Given the description of an element on the screen output the (x, y) to click on. 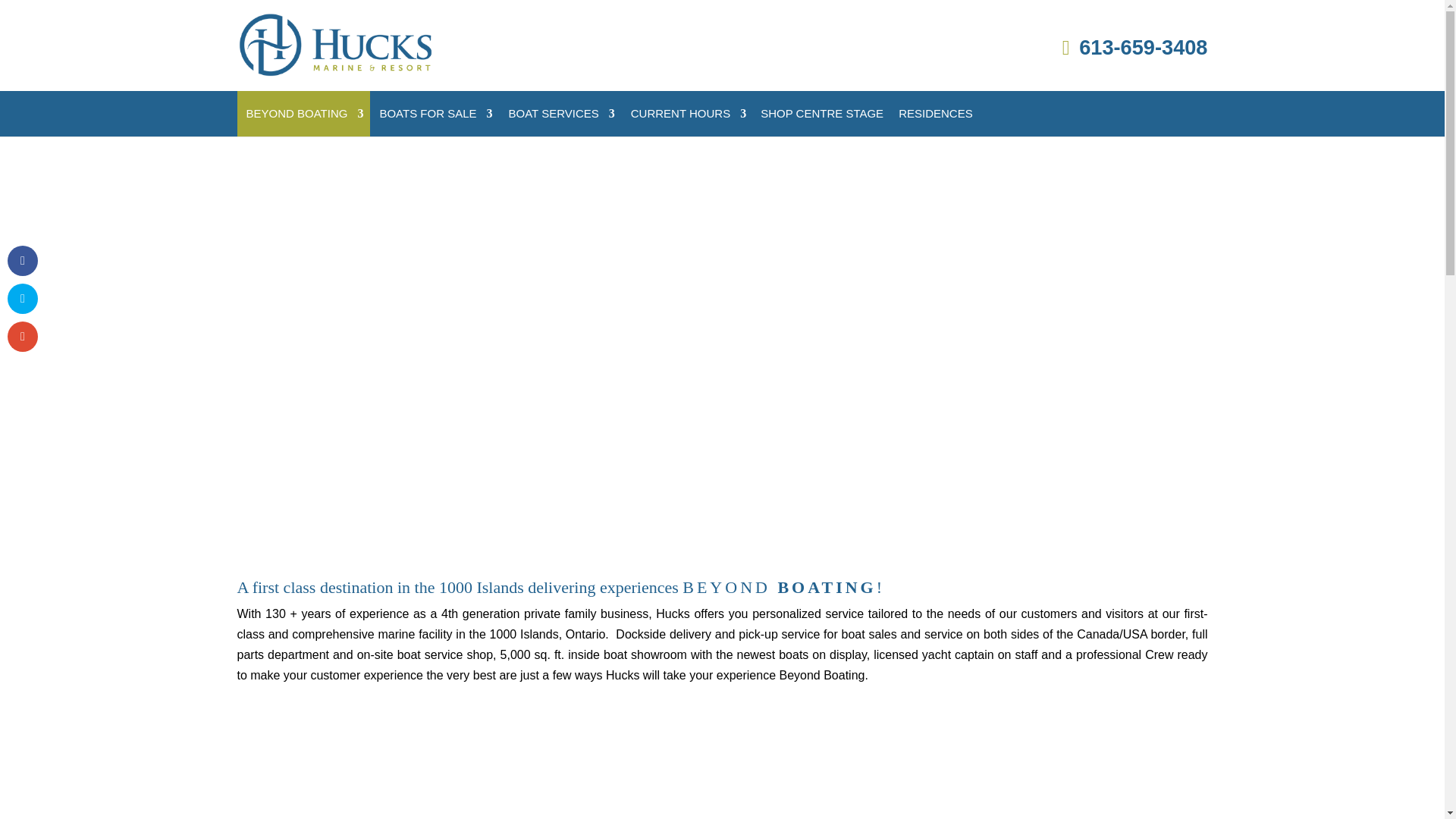
CURRENT HOURS (686, 113)
SHOP CENTRE STAGE (821, 113)
BOAT SERVICES (560, 113)
BOATS FOR SALE (434, 113)
613-659-3408 (1135, 47)
BEYOND BOATING (302, 113)
RESIDENCES (935, 113)
Arial-JB-2 (465, 776)
